Given the description of an element on the screen output the (x, y) to click on. 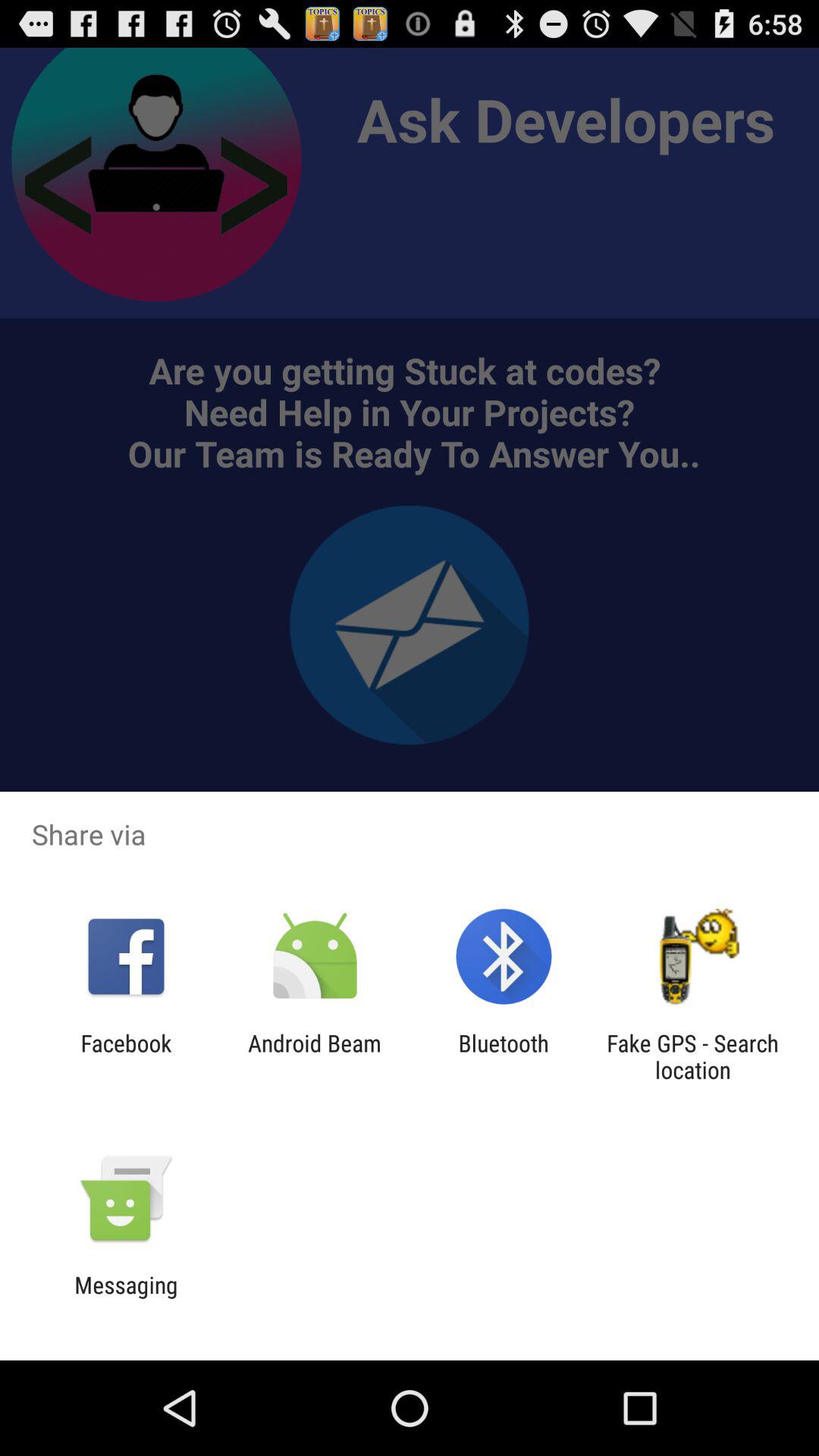
turn on the bluetooth (503, 1056)
